Given the description of an element on the screen output the (x, y) to click on. 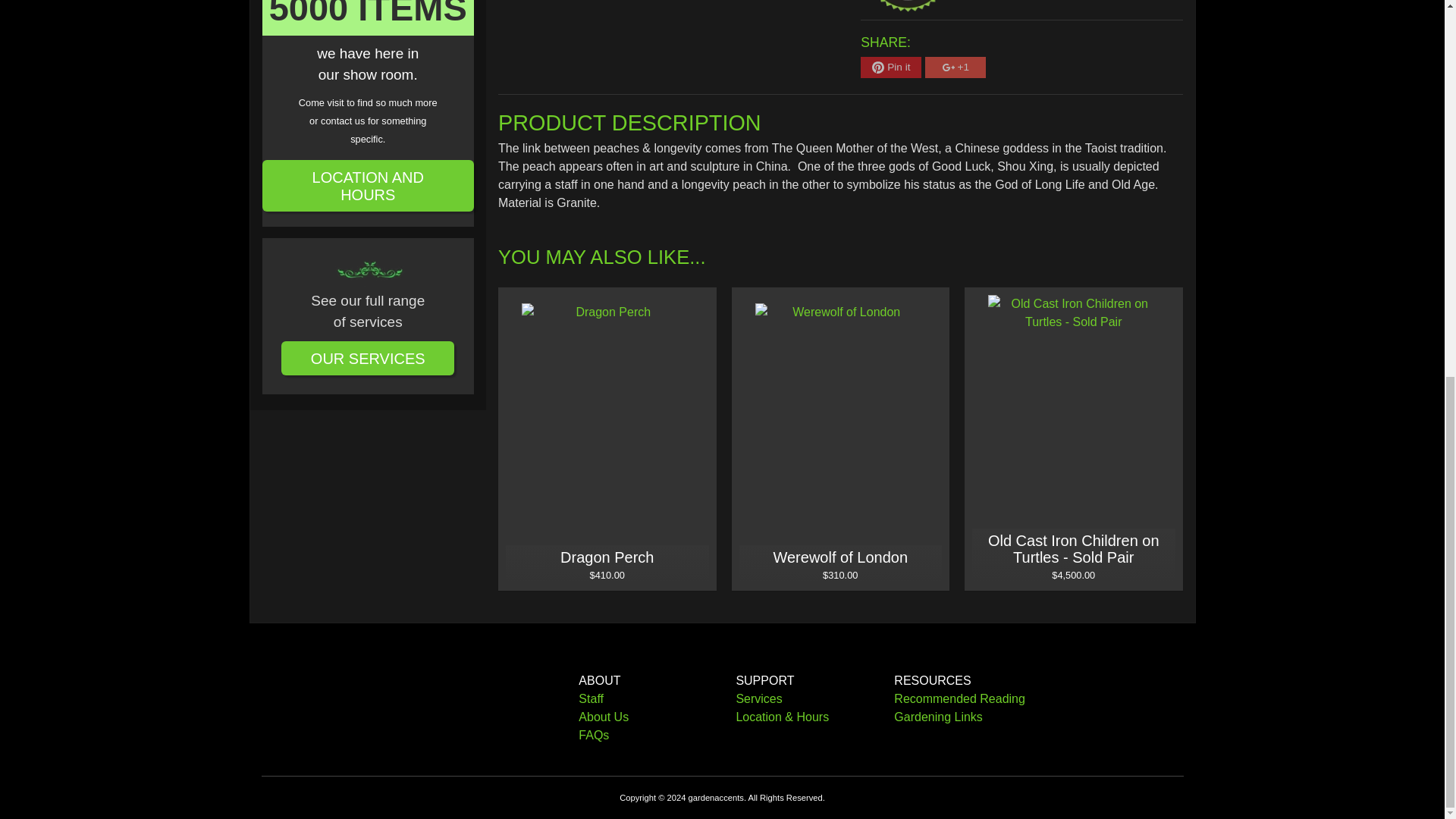
Pin on Pinterest (890, 66)
